Given the description of an element on the screen output the (x, y) to click on. 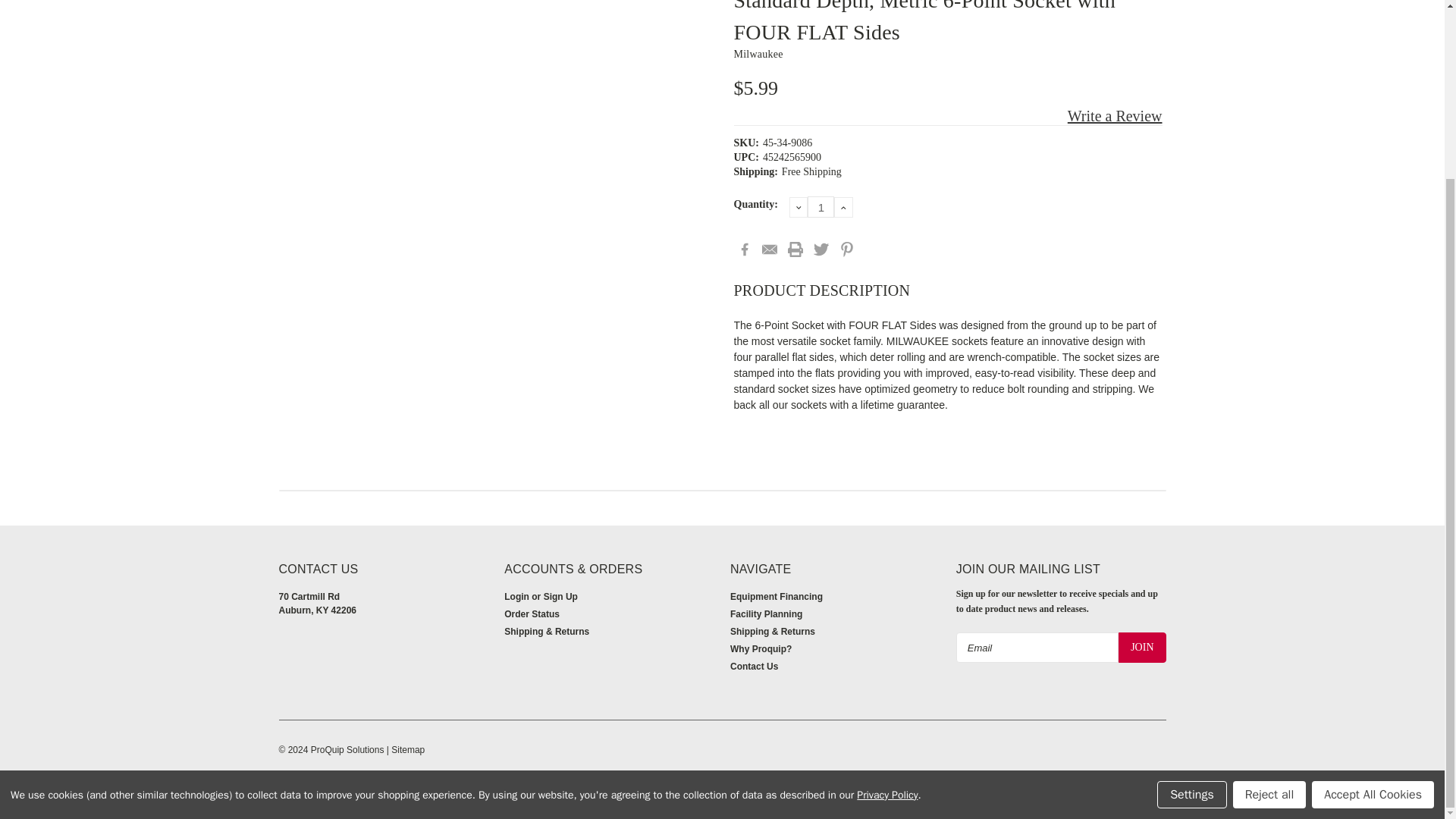
Facebook (744, 249)
1 (821, 206)
Join (1142, 647)
Twitter (820, 249)
Email (769, 249)
Pinterest (847, 249)
Print (795, 249)
